Given the description of an element on the screen output the (x, y) to click on. 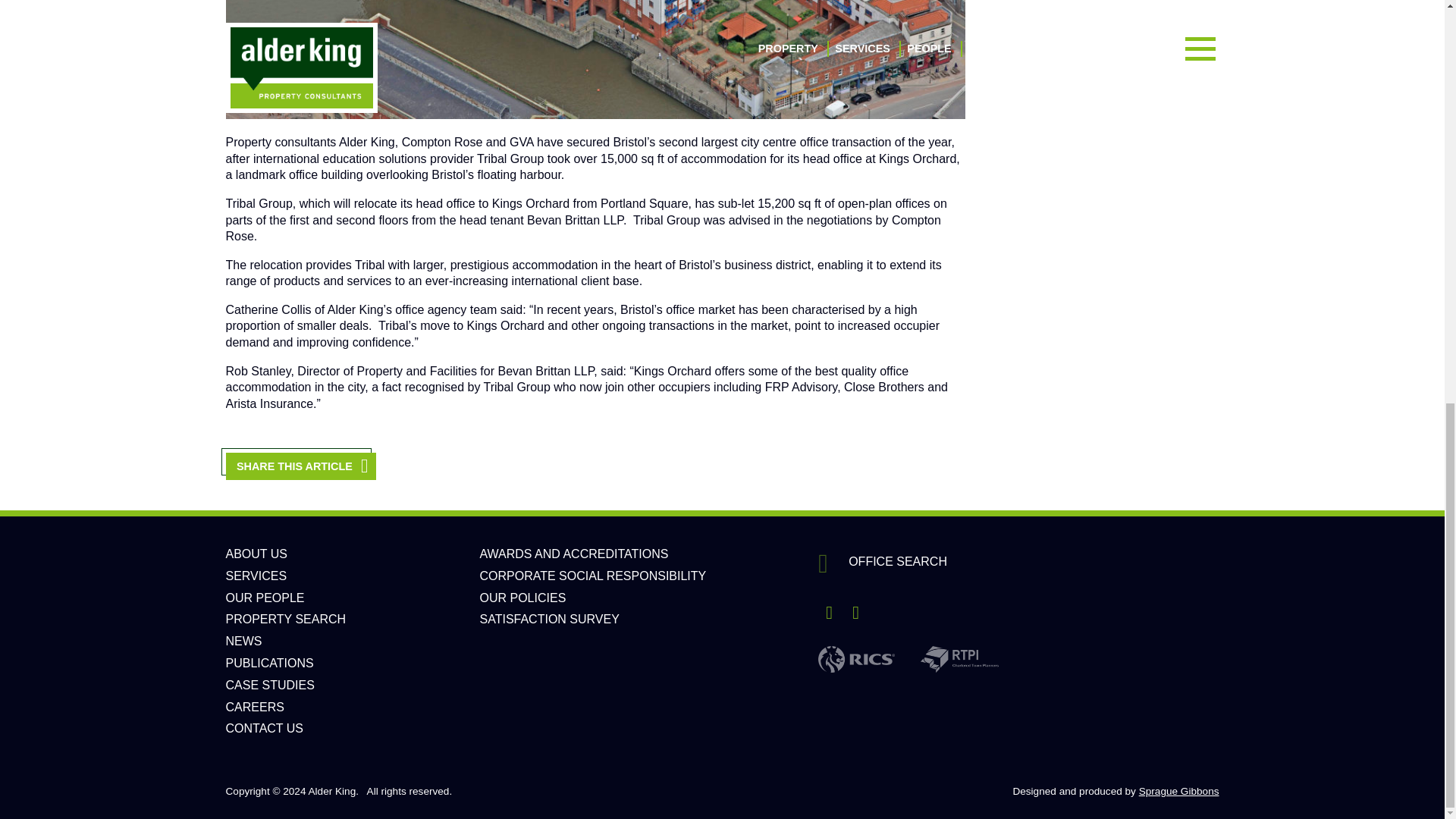
CONTACT US (264, 727)
NEWS (243, 640)
ABOUT US (256, 553)
OUR PEOPLE (264, 597)
OUR POLICIES (522, 597)
SERVICES (255, 575)
SATISFACTION SURVEY (548, 618)
SHARE THIS ARTICLE (300, 465)
CASE STUDIES (269, 684)
PROPERTY SEARCH (285, 618)
AWARDS AND ACCREDITATIONS (573, 553)
CORPORATE SOCIAL RESPONSIBILITY (592, 575)
CAREERS (254, 707)
PUBLICATIONS (269, 662)
